Given the description of an element on the screen output the (x, y) to click on. 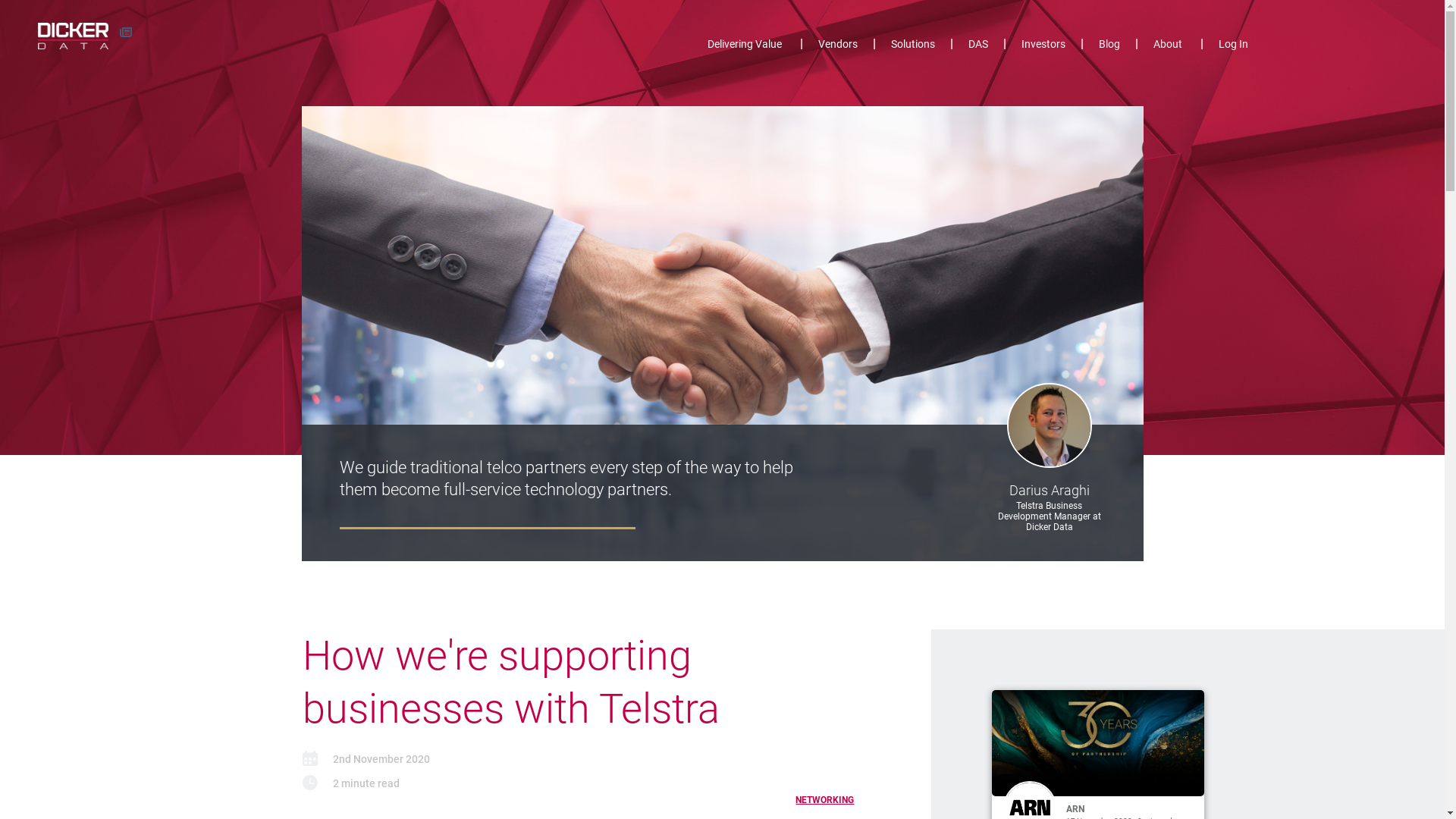
Vendors Element type: text (837, 47)
NETWORKING Element type: text (822, 799)
DAS Element type: text (978, 47)
About Element type: text (1167, 47)
BLOG Element type: hover (125, 32)
Solutions Element type: text (912, 47)
Delivering Value Element type: text (744, 47)
dicker_data_logo.png Element type: hover (72, 35)
Investors Element type: text (1043, 47)
Blog Element type: text (1109, 47)
Log In Element type: text (1225, 47)
